Given the description of an element on the screen output the (x, y) to click on. 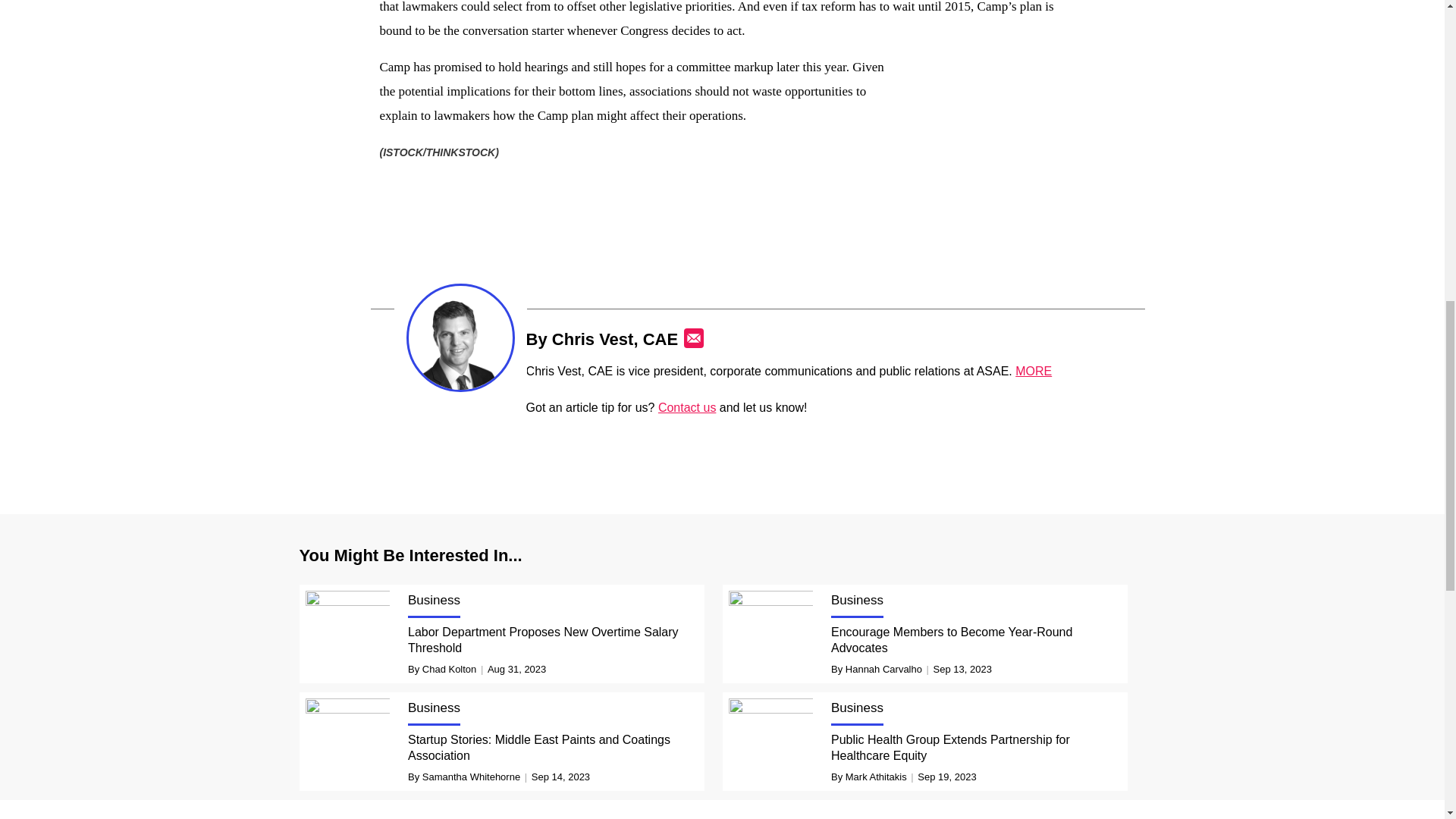
Mail (693, 338)
Contact us (687, 407)
Email (693, 338)
MORE (1032, 370)
